Given the description of an element on the screen output the (x, y) to click on. 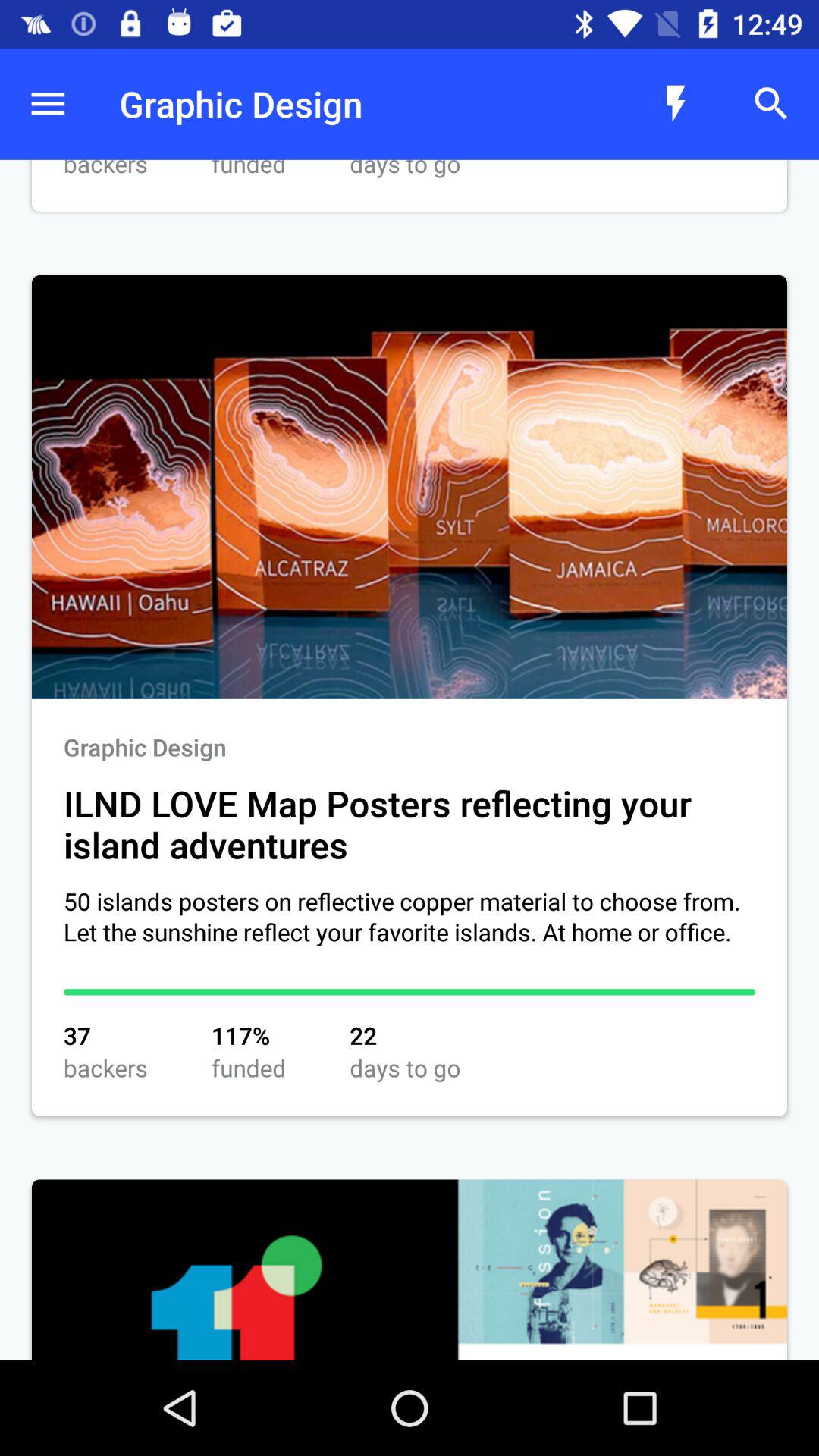
press the item to the right of graphic design item (675, 103)
